Given the description of an element on the screen output the (x, y) to click on. 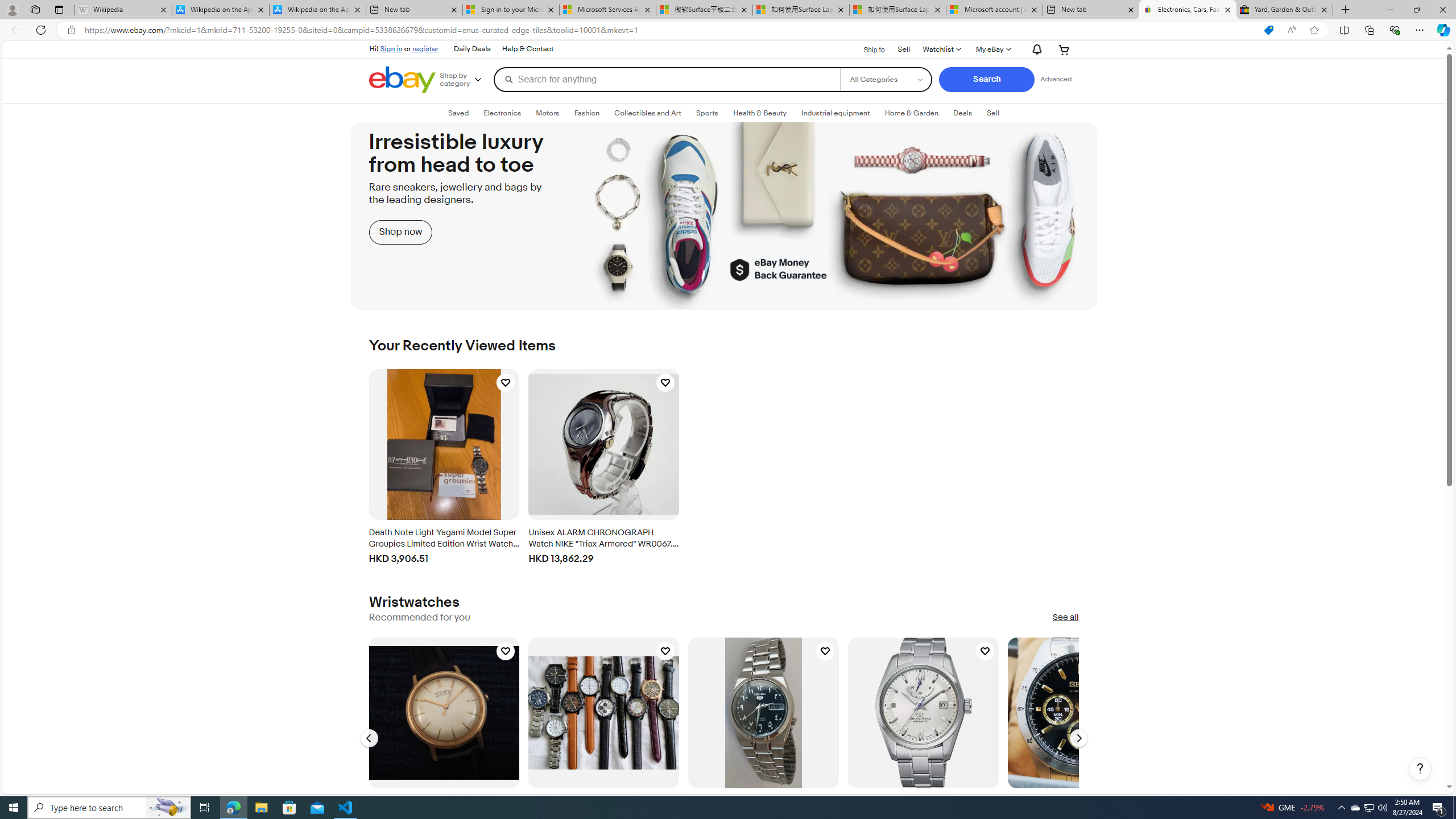
Shopping in Microsoft Edge (1268, 29)
MotorsExpand: Motors (547, 112)
Your shopping cart (1064, 49)
Notifications (1034, 49)
Microsoft Services Agreement (607, 9)
See all (1065, 617)
Deals (962, 112)
Deals (962, 112)
